Given the description of an element on the screen output the (x, y) to click on. 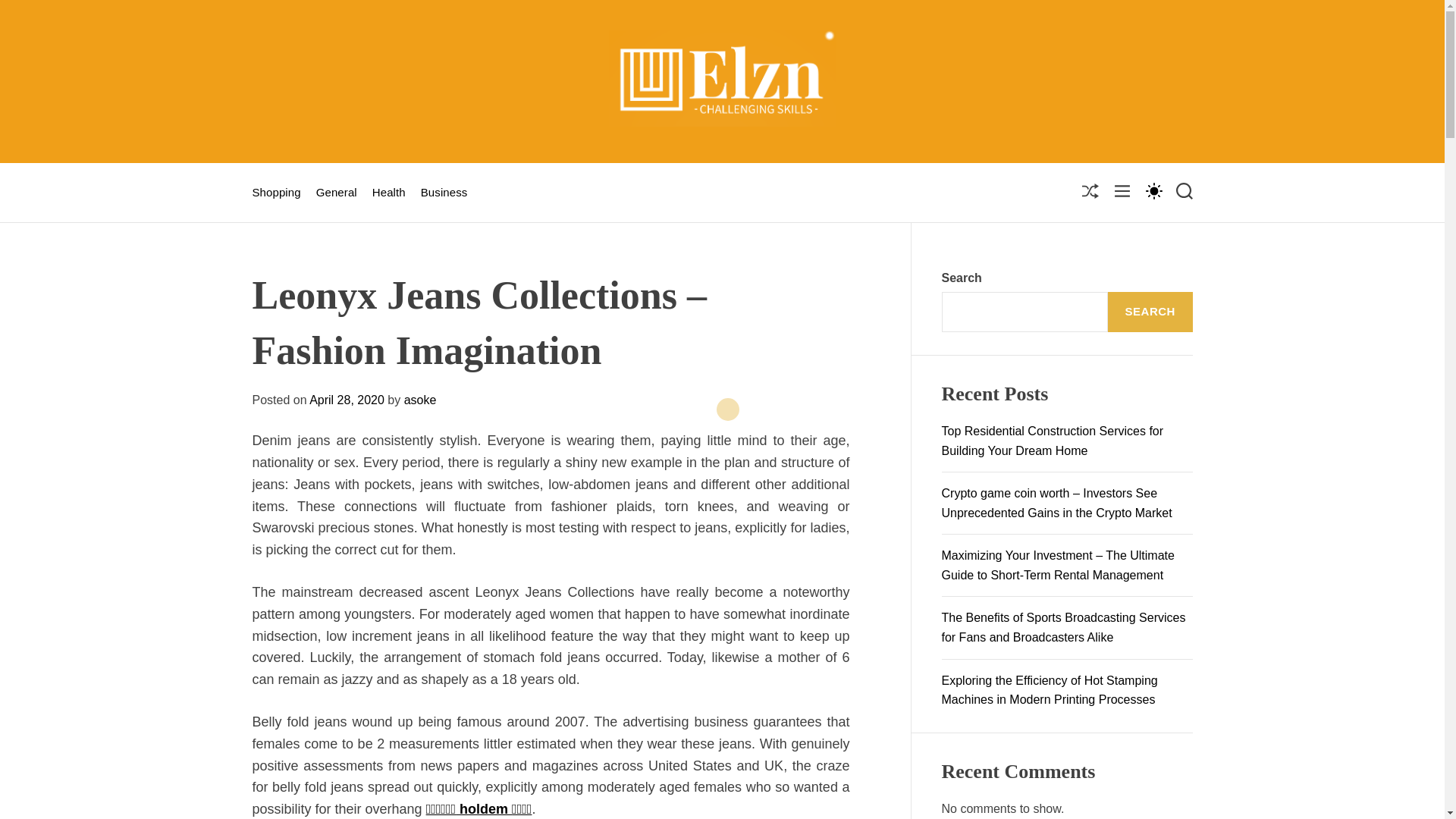
SEARCH (1150, 311)
SWITCH COLOR MODE (1152, 190)
April 28, 2020 (346, 399)
Shopping (275, 192)
General (335, 192)
Business (443, 192)
Health (389, 192)
asoke (420, 399)
